Given the description of an element on the screen output the (x, y) to click on. 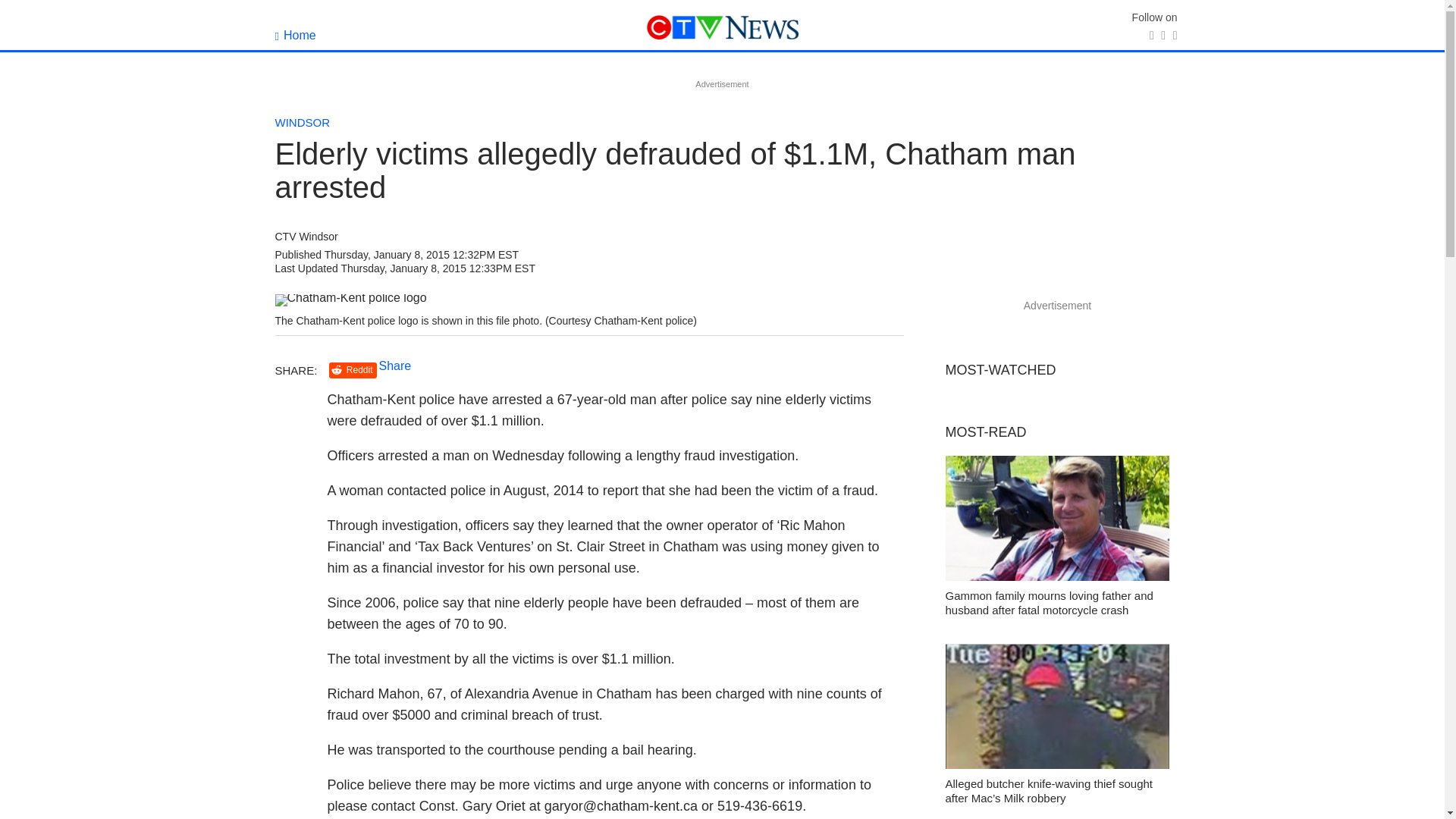
WINDSOR (302, 122)
Home (295, 34)
Chatham-Kent police logo (350, 300)
Reddit (353, 370)
Share (395, 365)
